Given the description of an element on the screen output the (x, y) to click on. 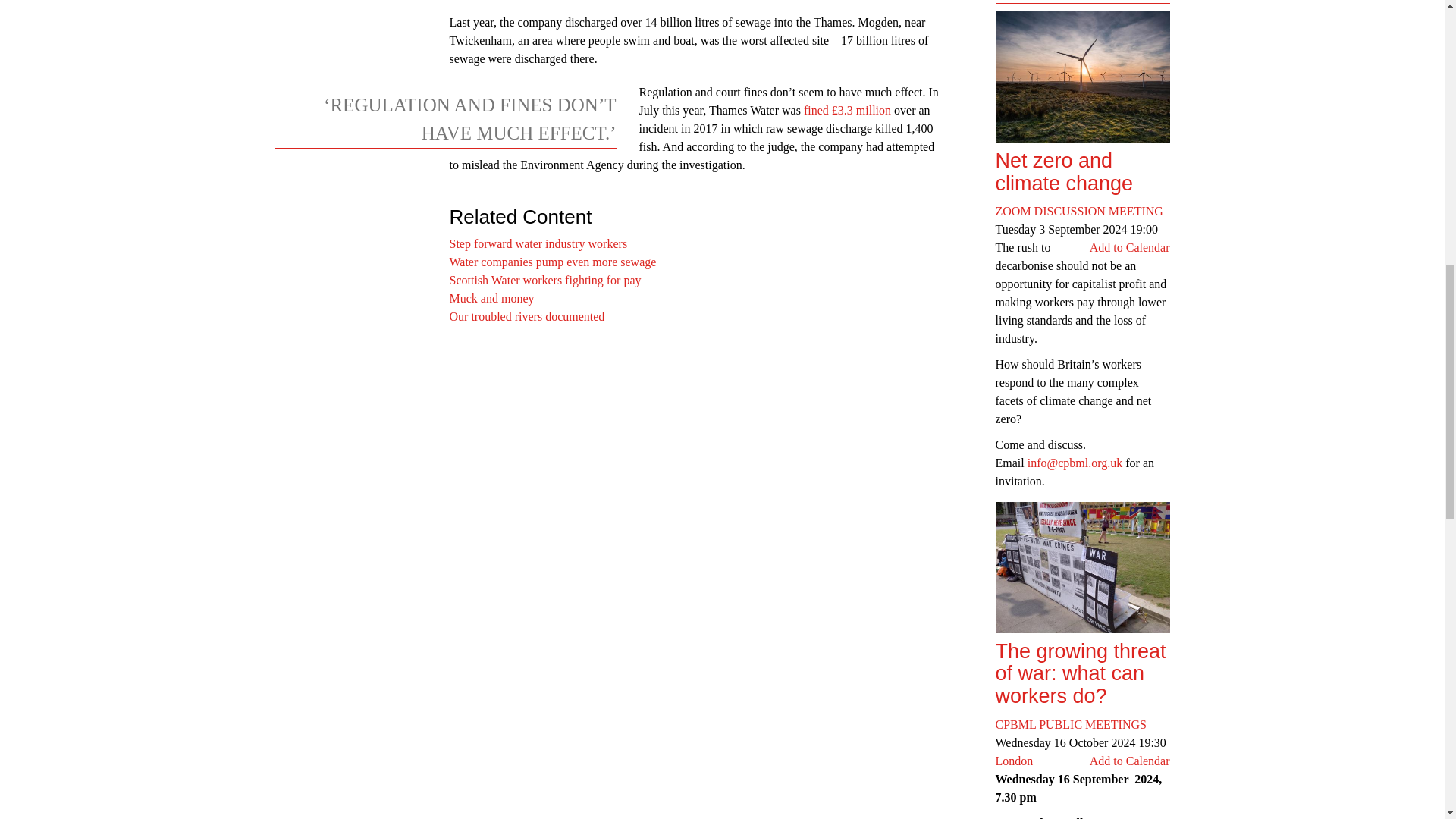
Step forward water industry workers (537, 243)
Our troubled rivers documented (526, 316)
Net zero and climate change (1081, 171)
Scottish Water workers fighting for pay (544, 279)
Water companies pump even more sewage (552, 261)
Muck and money (491, 297)
